Given the description of an element on the screen output the (x, y) to click on. 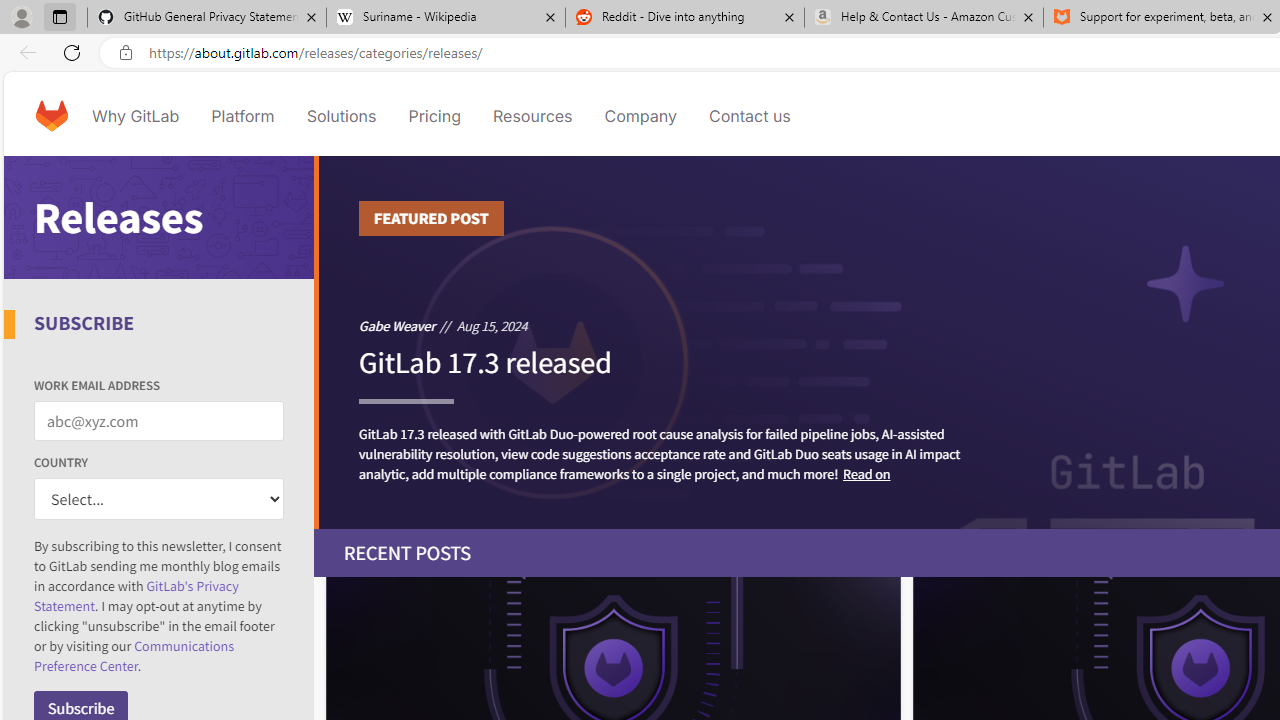
COUNTRY (159, 499)
Solutions (341, 115)
Company (640, 115)
WORK EMAIL ADDRESS (159, 421)
Contact us (749, 115)
GitLab home page (51, 115)
Why GitLab (136, 115)
Solutions (341, 115)
Contact us (749, 115)
Company (640, 115)
Resources (532, 115)
Suriname - Wikipedia (445, 17)
